Given the description of an element on the screen output the (x, y) to click on. 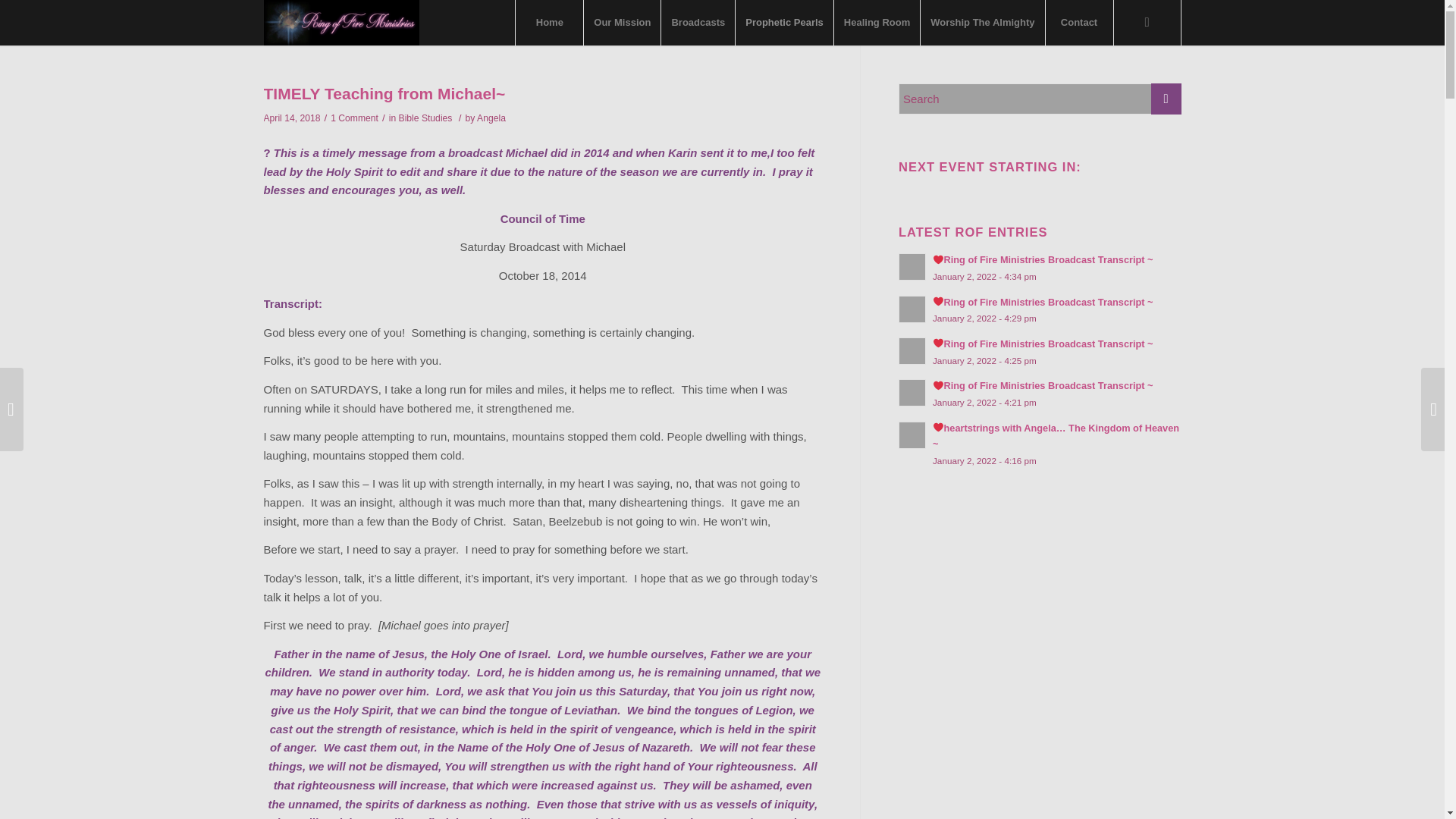
Prophetic Pearls (783, 22)
Worship The Almighty (981, 22)
Angela (491, 118)
Posts by Angela (491, 118)
Home (549, 22)
Bible Studies (425, 118)
Healing Room (876, 22)
1 Comment (354, 118)
Our Mission (622, 22)
Contact (1079, 22)
Broadcasts (698, 22)
